Given the description of an element on the screen output the (x, y) to click on. 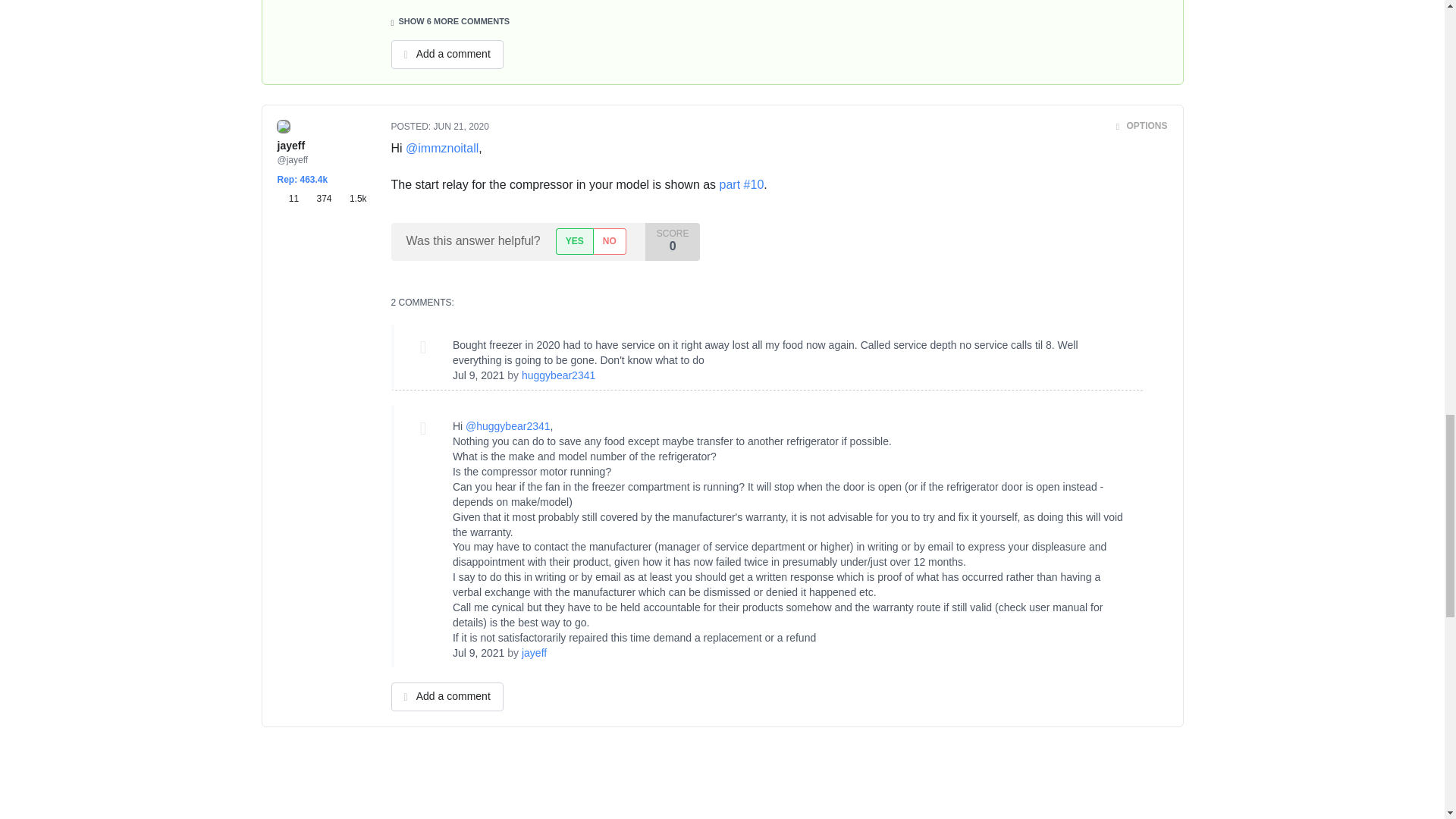
11 Bronze badges (291, 198)
